Given the description of an element on the screen output the (x, y) to click on. 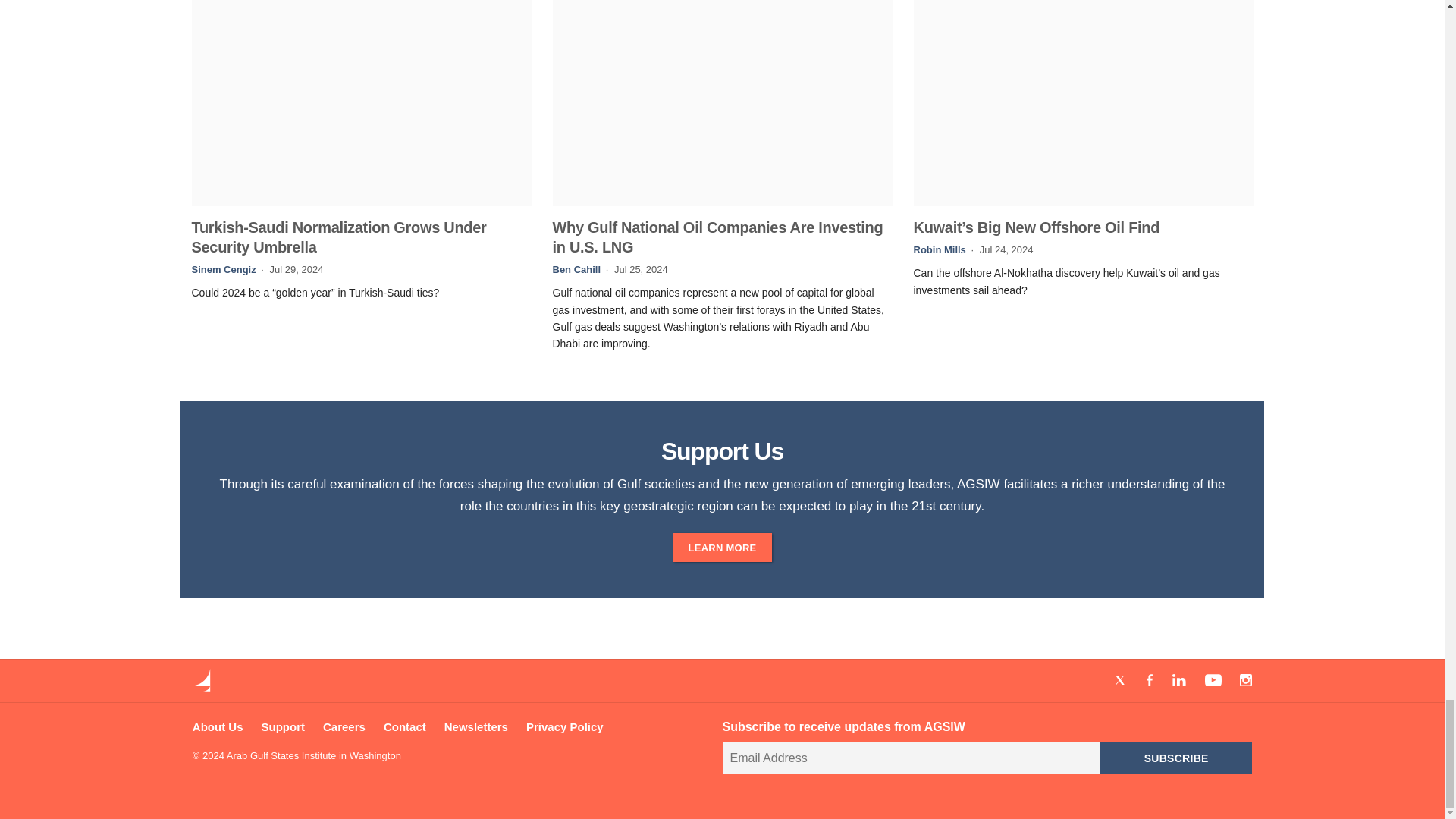
Subscribe (1176, 757)
